Given the description of an element on the screen output the (x, y) to click on. 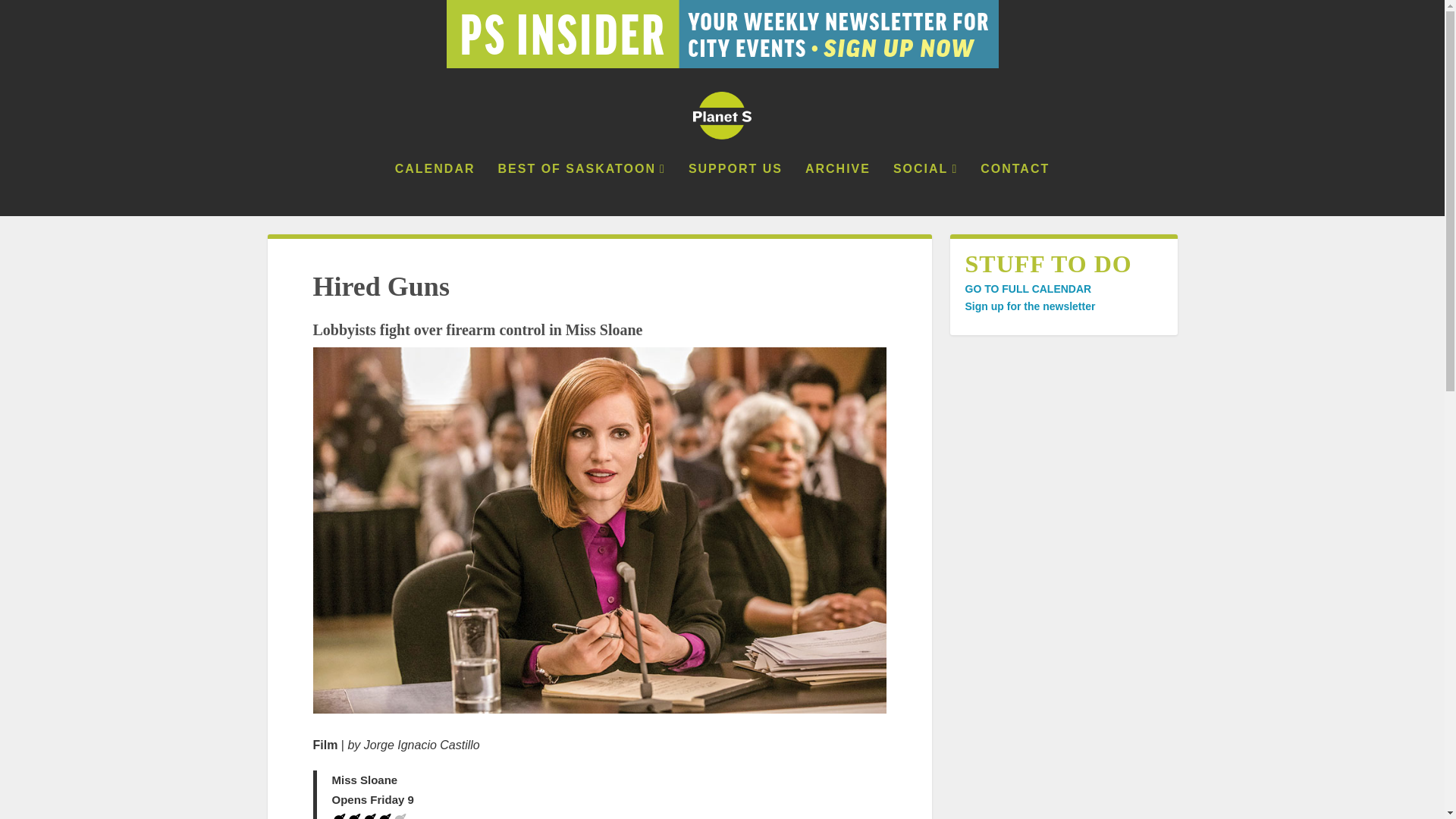
CALENDAR (435, 189)
BEST OF SASKATOON (581, 189)
ARCHIVE (837, 189)
SOCIAL (925, 189)
CONTACT (1014, 189)
Sign up for the newsletter (1028, 306)
GO TO FULL CALENDAR (1026, 288)
SUPPORT US (735, 189)
